Given the description of an element on the screen output the (x, y) to click on. 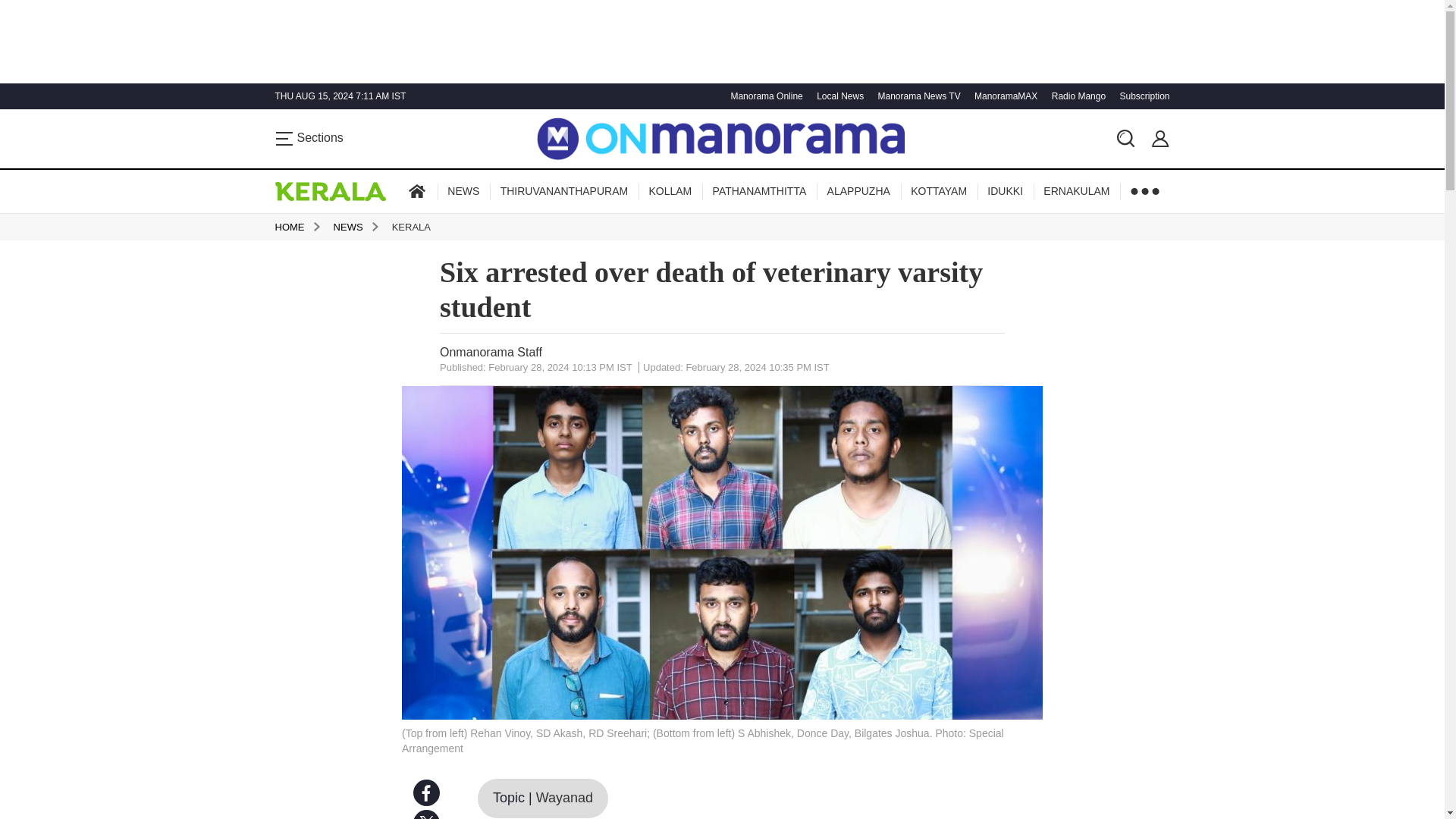
PATHANAMTHITTA (758, 191)
Manorama News TV (916, 95)
THIRUVANANTHAPURAM (564, 191)
Manorama Online (764, 95)
NEWS (462, 191)
KOLLAM (669, 191)
Local News (837, 95)
Subscription (1142, 95)
Radio Mango (1076, 95)
ManoramaMAX (1003, 95)
